Given the description of an element on the screen output the (x, y) to click on. 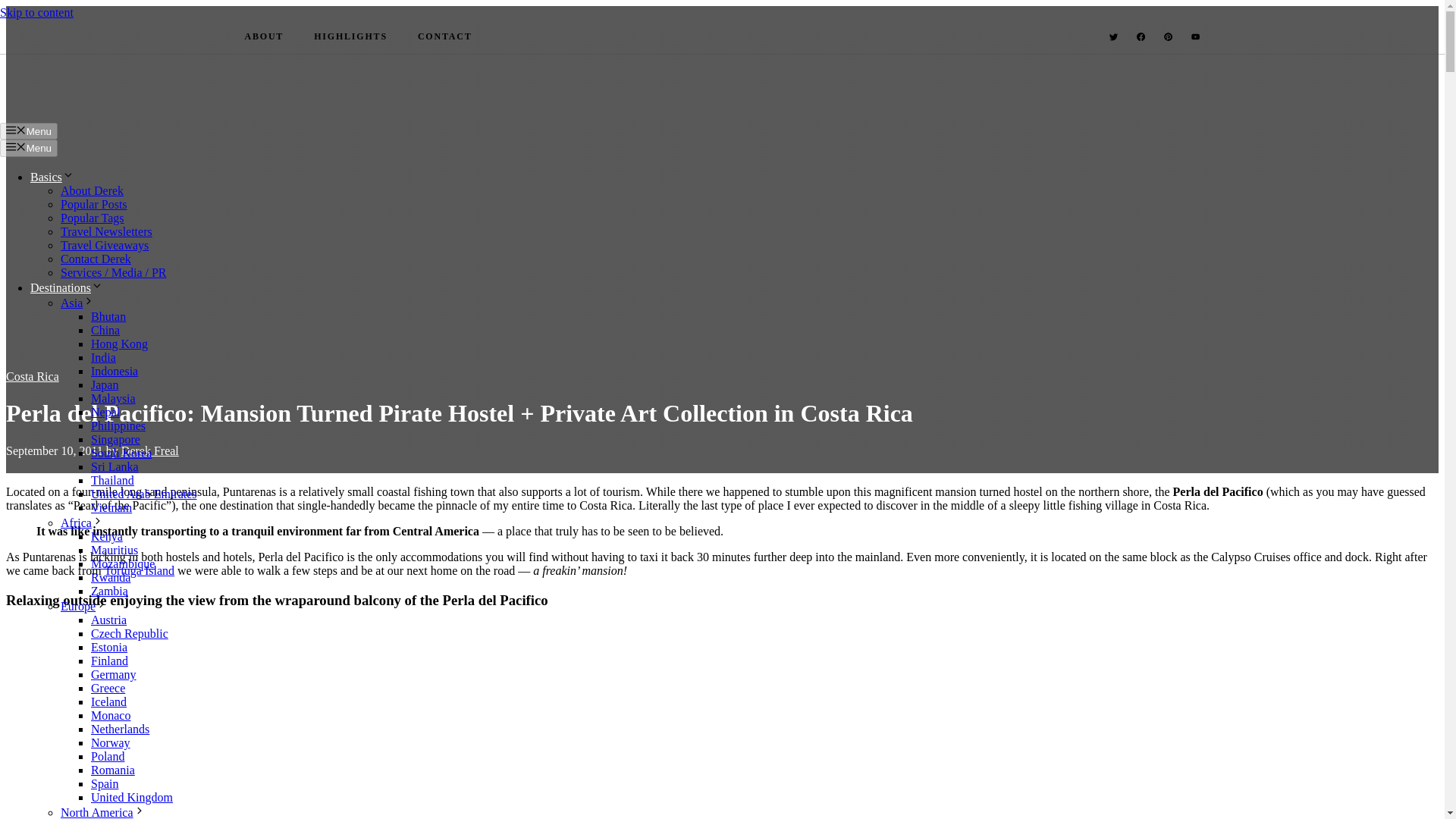
Asia (77, 302)
Skip to content (37, 11)
CONTACT (444, 36)
Japan (103, 384)
Skip to content (37, 11)
Mauritius (114, 549)
Indonesia (114, 370)
South Korea (120, 452)
Popular Posts (94, 204)
Menu (29, 147)
